Given the description of an element on the screen output the (x, y) to click on. 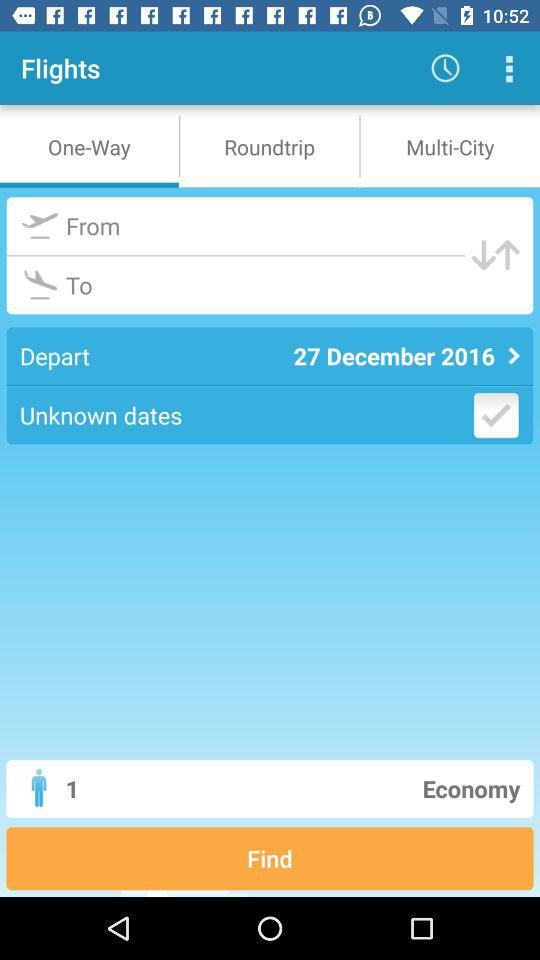
launch icon above multi-city (444, 67)
